Given the description of an element on the screen output the (x, y) to click on. 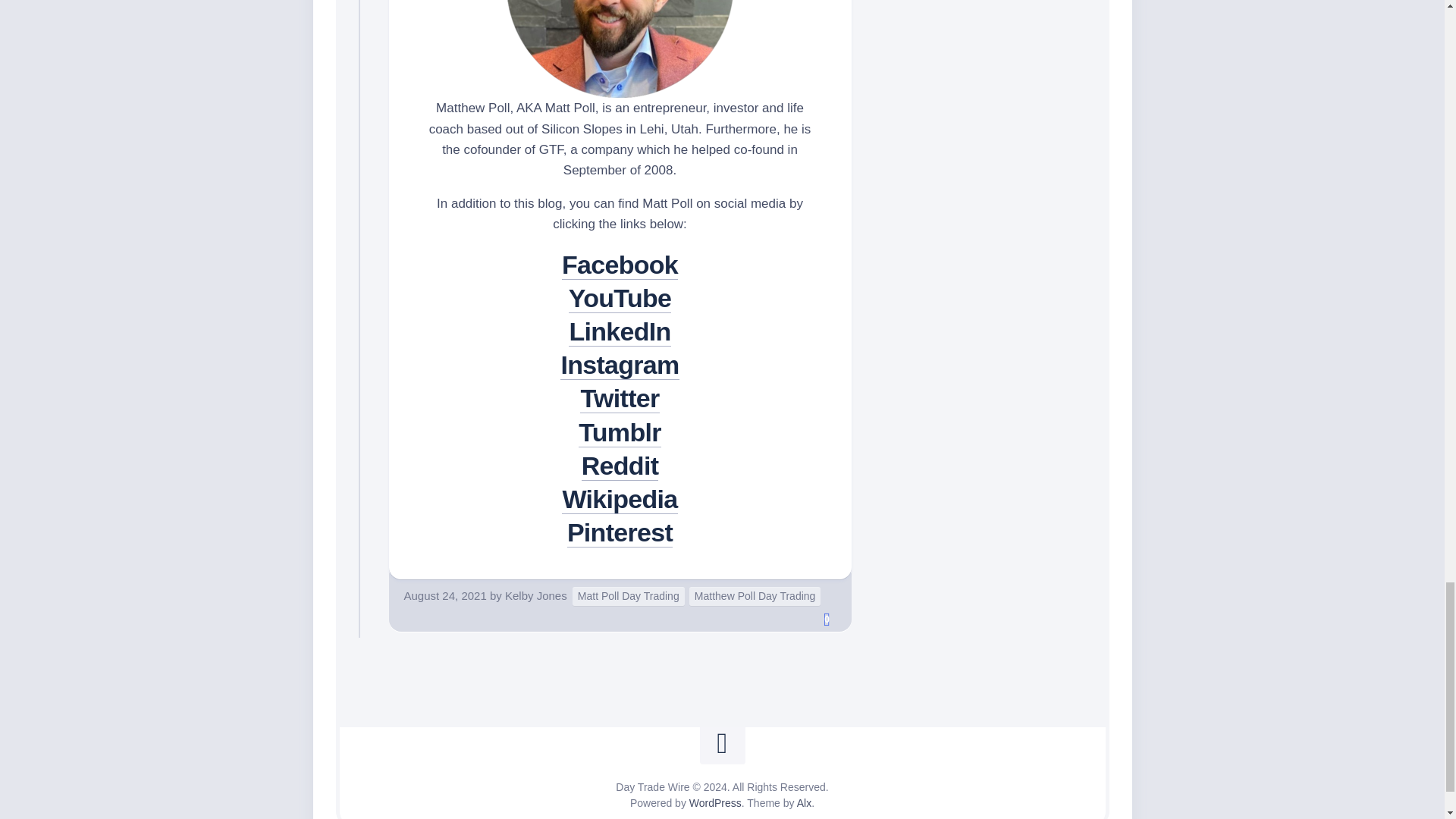
Posts by Kelby Jones (536, 594)
Twitter (619, 398)
LinkedIn (619, 330)
Wikipedia (619, 498)
Facebook (620, 264)
Matt Poll Day Trading (628, 596)
Kelby Jones (536, 594)
Pinterest (619, 532)
0 (825, 619)
Matthew Poll Day Trading (754, 596)
Tumblr (619, 431)
YouTube (620, 297)
Reddit (619, 465)
Instagram (619, 364)
